Given the description of an element on the screen output the (x, y) to click on. 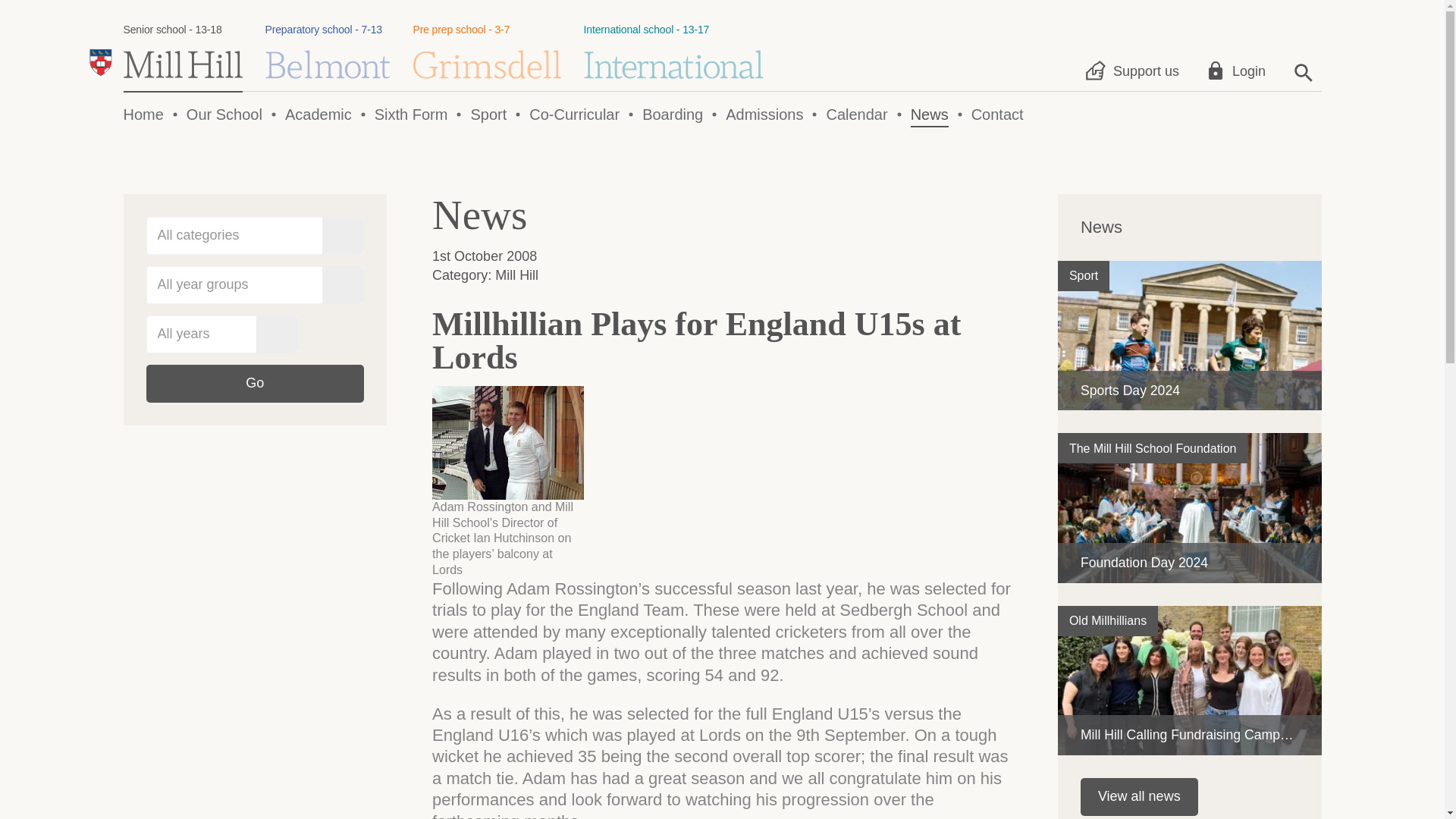
Sport (1083, 276)
Mill Hill Calling Fundraising Campaign (1190, 680)
Sports Day 2024 (1190, 335)
News (930, 114)
Contact (997, 114)
Foundation Day 2024 (1190, 507)
Support us (1134, 71)
Old Millhillians (1107, 621)
Our School (672, 50)
Go (486, 50)
Academic (224, 114)
Co-Curricular (254, 383)
